Given the description of an element on the screen output the (x, y) to click on. 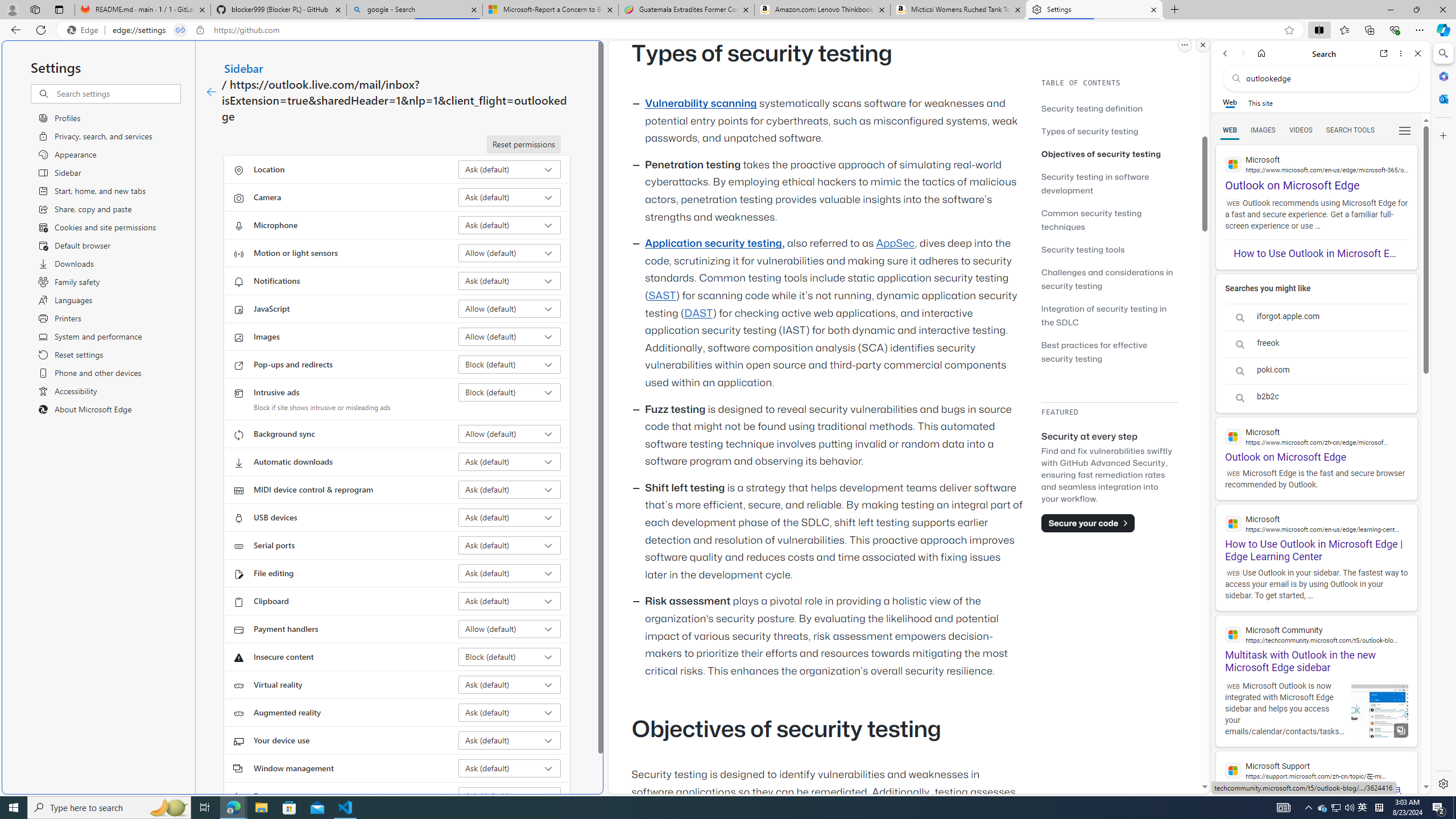
Images Allow (default) (509, 336)
Objectives of security testing (1109, 153)
Background sync Allow (default) (509, 434)
Tabs in split screen (180, 29)
Serial ports Ask (default) (509, 545)
iforgot.apple.com (1315, 317)
